Given the description of an element on the screen output the (x, y) to click on. 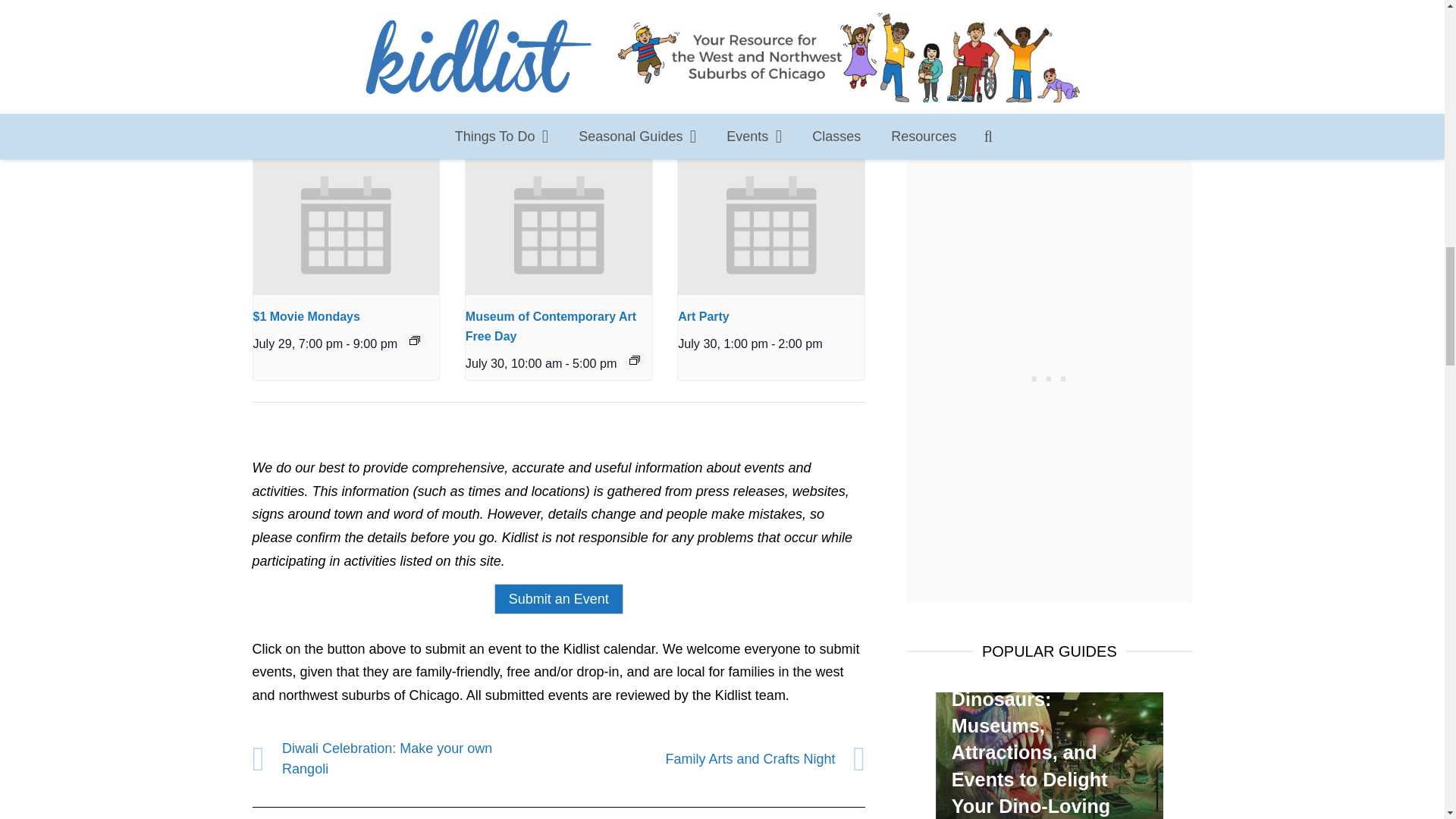
Diwali Celebration: Make your own Rangoli (404, 758)
Family Arts and Crafts Night (711, 758)
Event Series (634, 359)
Event Series (414, 339)
